Given the description of an element on the screen output the (x, y) to click on. 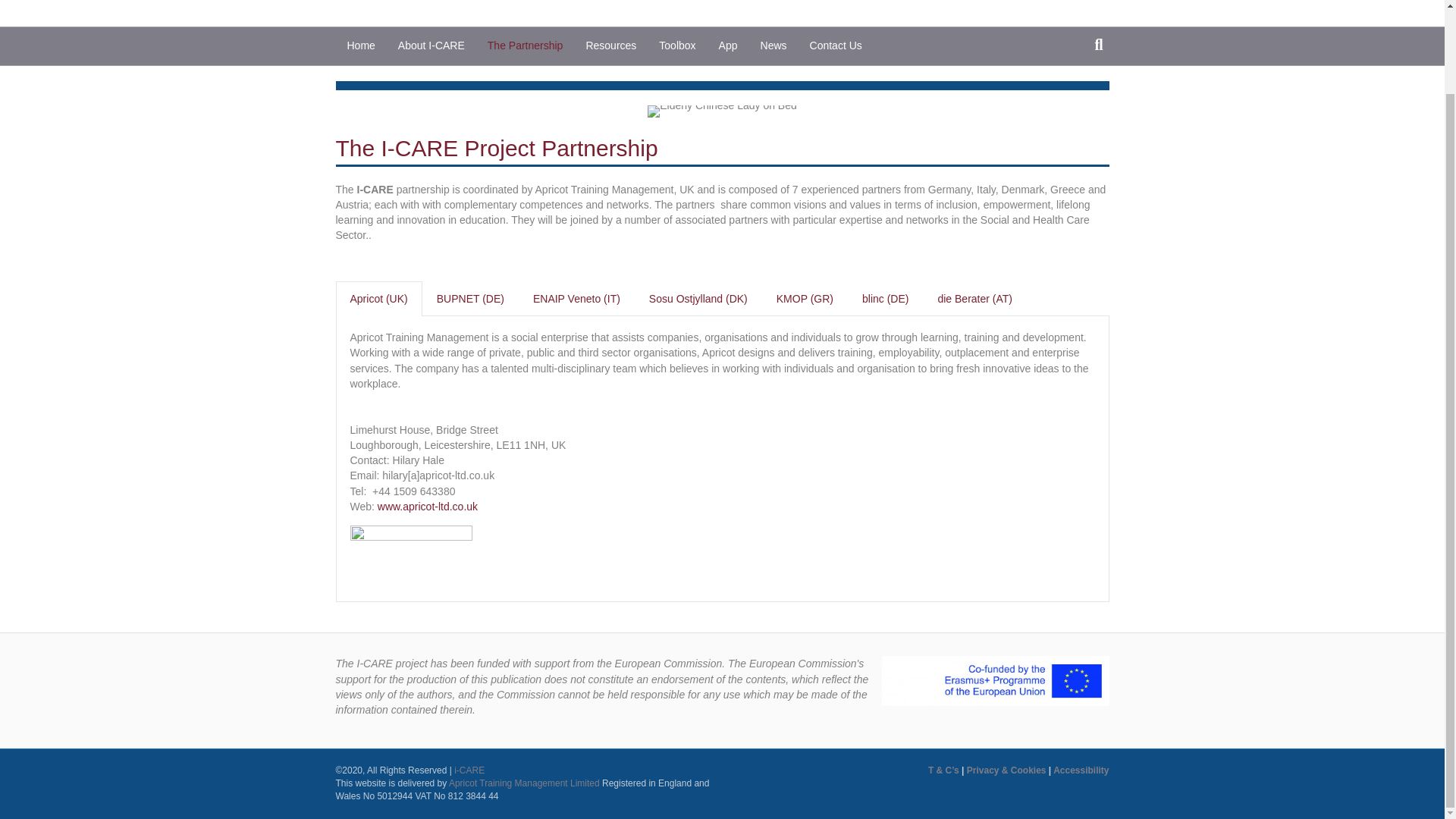
About I-CARE (431, 46)
The Partnership (525, 46)
Toolbox (676, 46)
Home (359, 46)
Resources (610, 46)
Elderly-Chinese-Lady-on-Bed (721, 111)
